Given the description of an element on the screen output the (x, y) to click on. 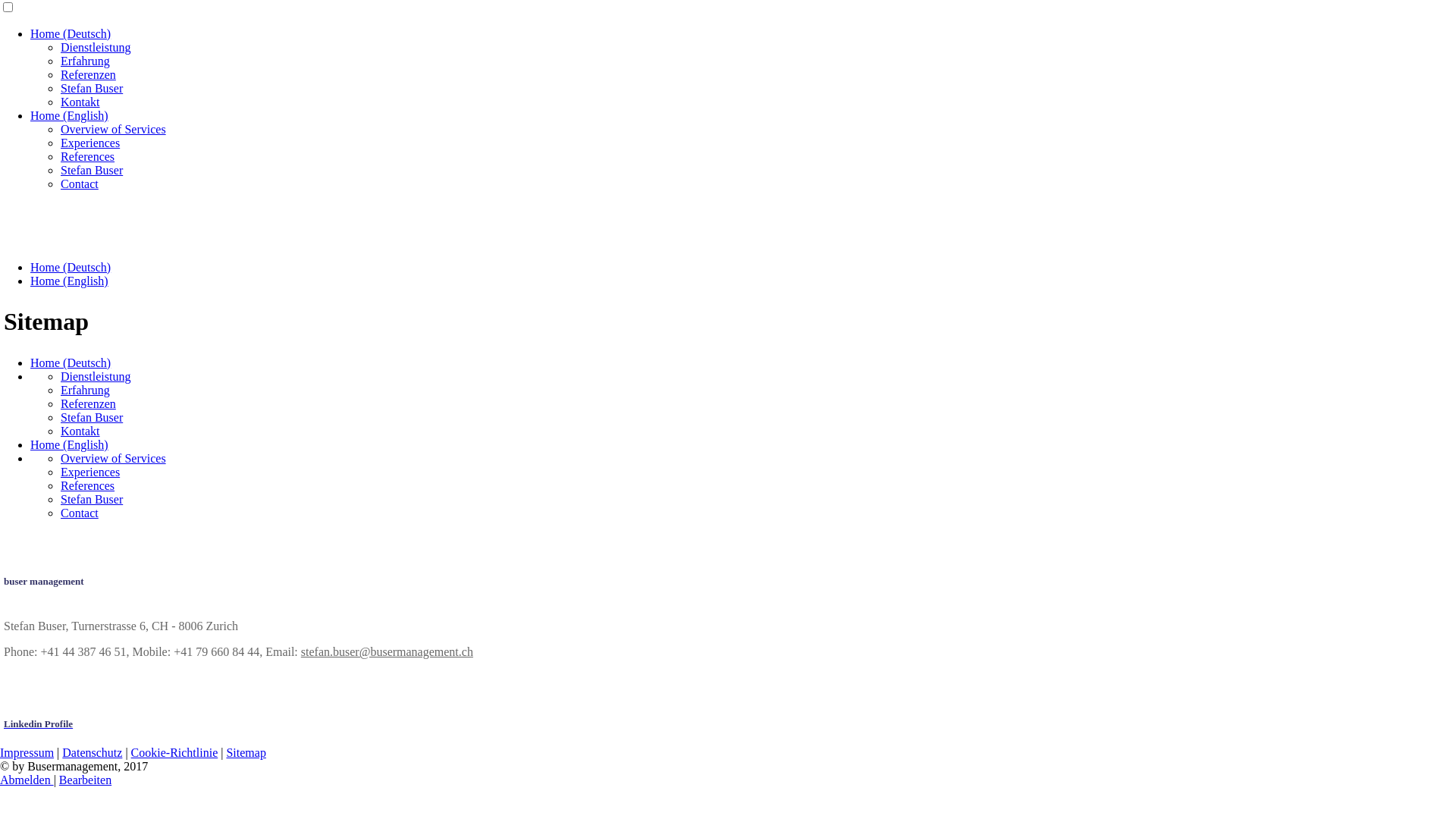
Referenzen Element type: text (88, 74)
Home (Deutsch) Element type: text (70, 266)
Erfahrung Element type: text (84, 389)
Dienstleistung Element type: text (95, 46)
Home (Deutsch) Element type: text (70, 33)
Erfahrung Element type: text (84, 60)
Linkedin Profile Element type: text (37, 722)
Stefan Buser Element type: text (91, 169)
Kontakt Element type: text (80, 430)
Experiences Element type: text (89, 471)
References Element type: text (87, 156)
Overview of Services Element type: text (113, 128)
Experiences Element type: text (89, 142)
Impressum Element type: text (26, 752)
Sitemap Element type: text (245, 752)
Home (English) Element type: text (69, 444)
Bearbeiten Element type: text (85, 779)
Abmelden Element type: text (26, 779)
Contact Element type: text (79, 183)
stefan.buser@busermanagement.ch Element type: text (387, 651)
Home (English) Element type: text (69, 280)
Datenschutz Element type: text (92, 752)
References Element type: text (87, 485)
Stefan Buser Element type: text (91, 498)
Stefan Buser Element type: text (91, 417)
Cookie-Richtlinie Element type: text (174, 752)
Referenzen Element type: text (88, 403)
Home (English) Element type: text (69, 115)
Kontakt Element type: text (80, 101)
Dienstleistung Element type: text (95, 376)
Contact Element type: text (79, 512)
Overview of Services Element type: text (113, 457)
Home (Deutsch) Element type: text (70, 362)
Stefan Buser Element type: text (91, 87)
